Given the description of an element on the screen output the (x, y) to click on. 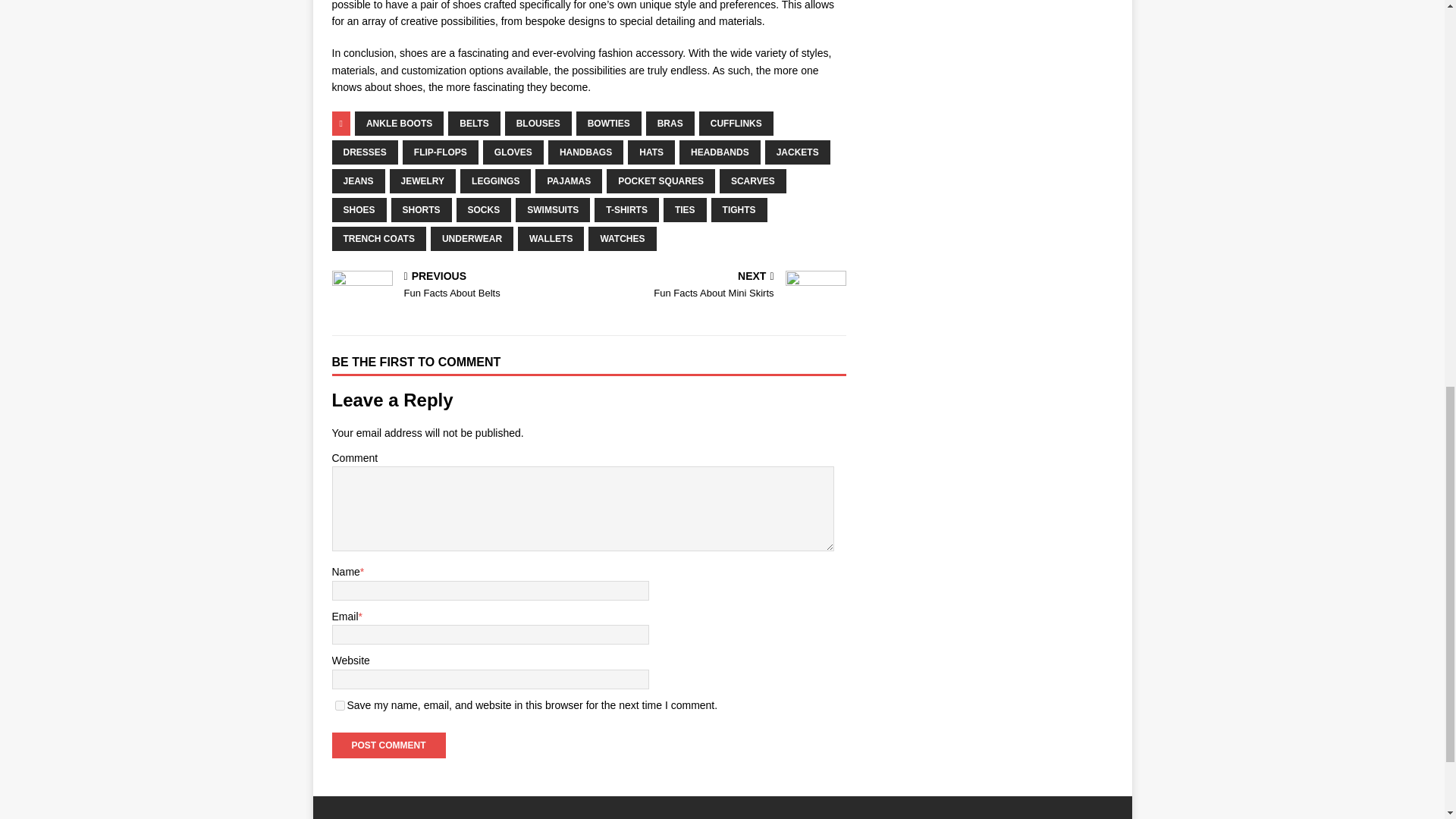
FLIP-FLOPS (441, 152)
BLOUSES (538, 123)
HATS (651, 152)
yes (339, 705)
HEADBANDS (719, 152)
JEWELRY (423, 180)
BELTS (473, 123)
HANDBAGS (585, 152)
PAJAMAS (568, 180)
GLOVES (513, 152)
